Given the description of an element on the screen output the (x, y) to click on. 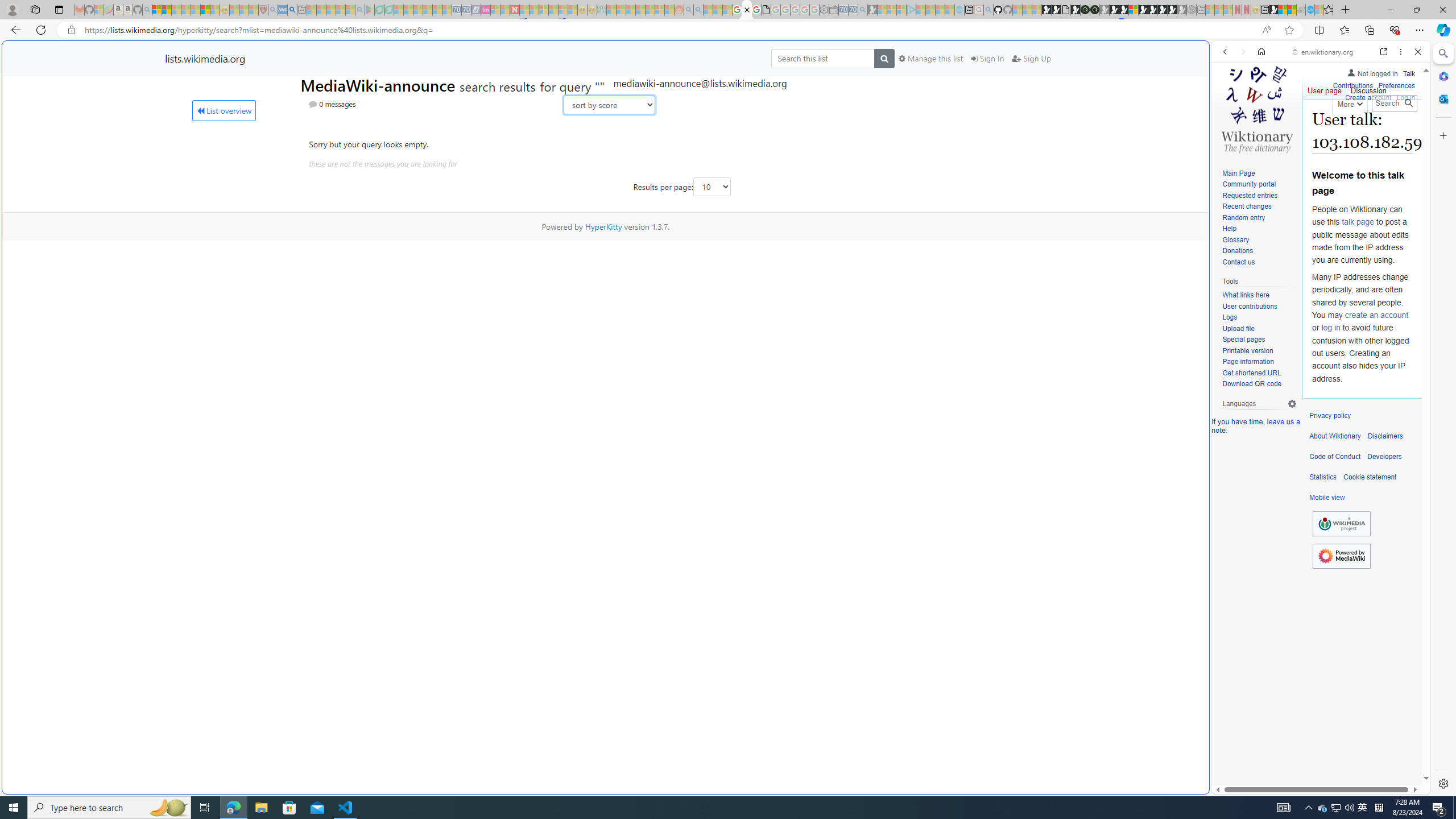
Future Focus Report 2024 (1094, 9)
What links here (1259, 295)
Requested entries (1259, 196)
lists.wikimedia.org (204, 58)
Special pages (1259, 339)
User contributions (1248, 306)
